Given the description of an element on the screen output the (x, y) to click on. 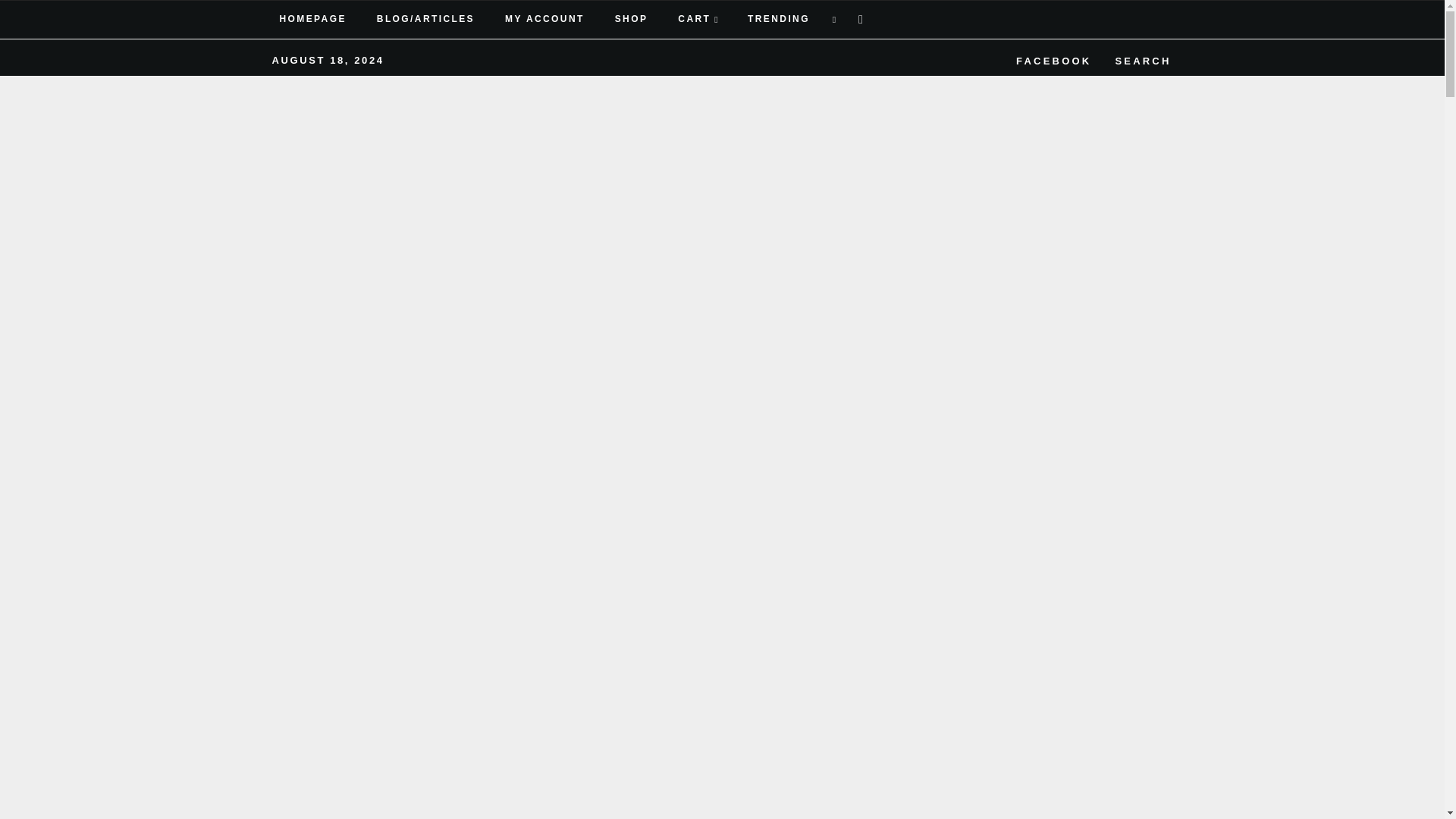
MY ACCOUNT (544, 19)
SHOP (631, 19)
CART (698, 19)
SEARCH (1139, 57)
HOMEPAGE (312, 19)
TRENDING (776, 19)
FACEBOOK (1050, 57)
